Given the description of an element on the screen output the (x, y) to click on. 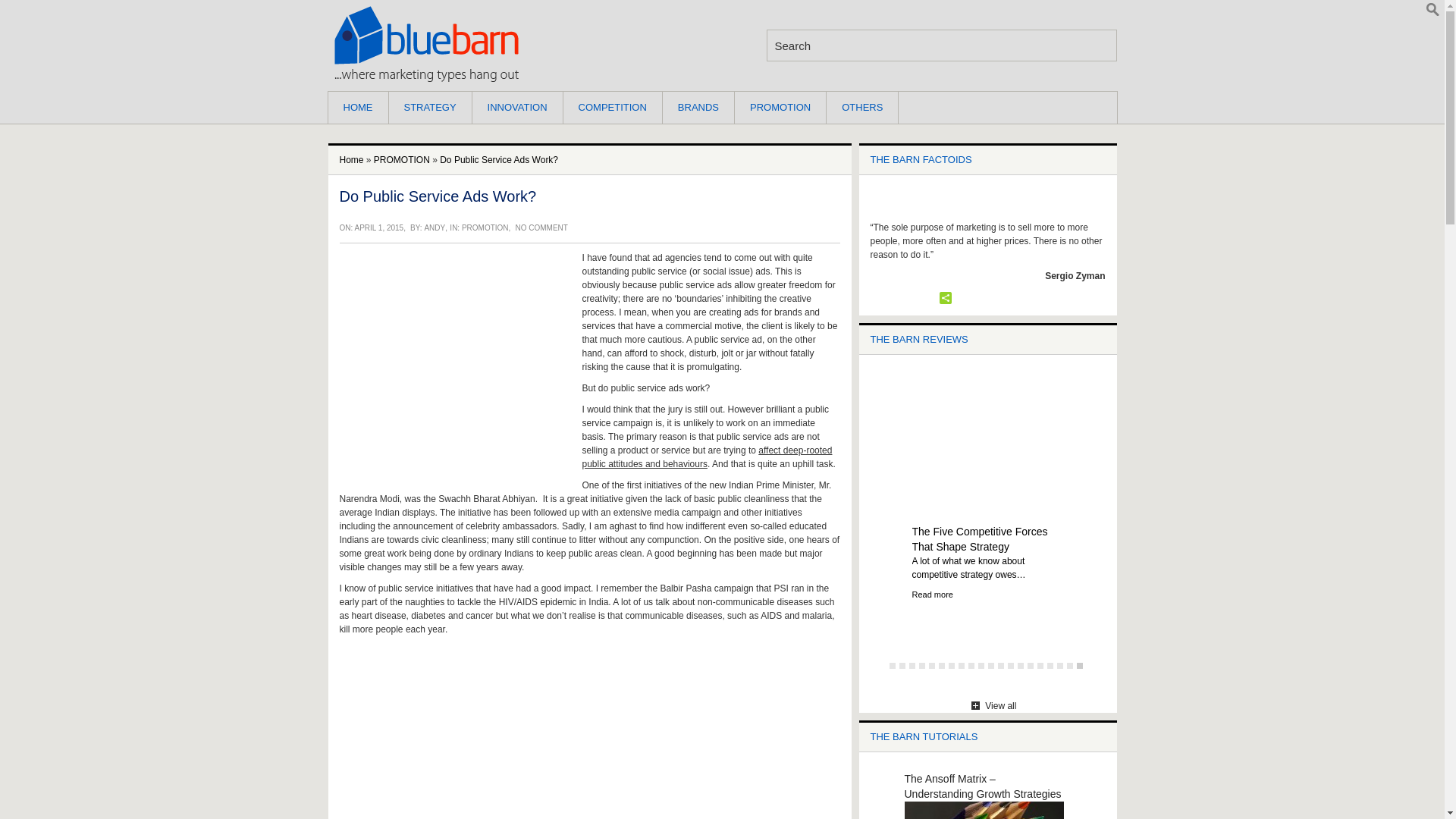
Read more (931, 593)
HOME (357, 107)
Home (351, 159)
The Five Competitive Forces That Shape Strategy (978, 538)
Search (940, 45)
The Five Competitive Forces That Shape Strategy (986, 448)
PROMOTION (401, 159)
INNOVATION (516, 107)
PROMOTION (484, 228)
Search (940, 45)
